Given the description of an element on the screen output the (x, y) to click on. 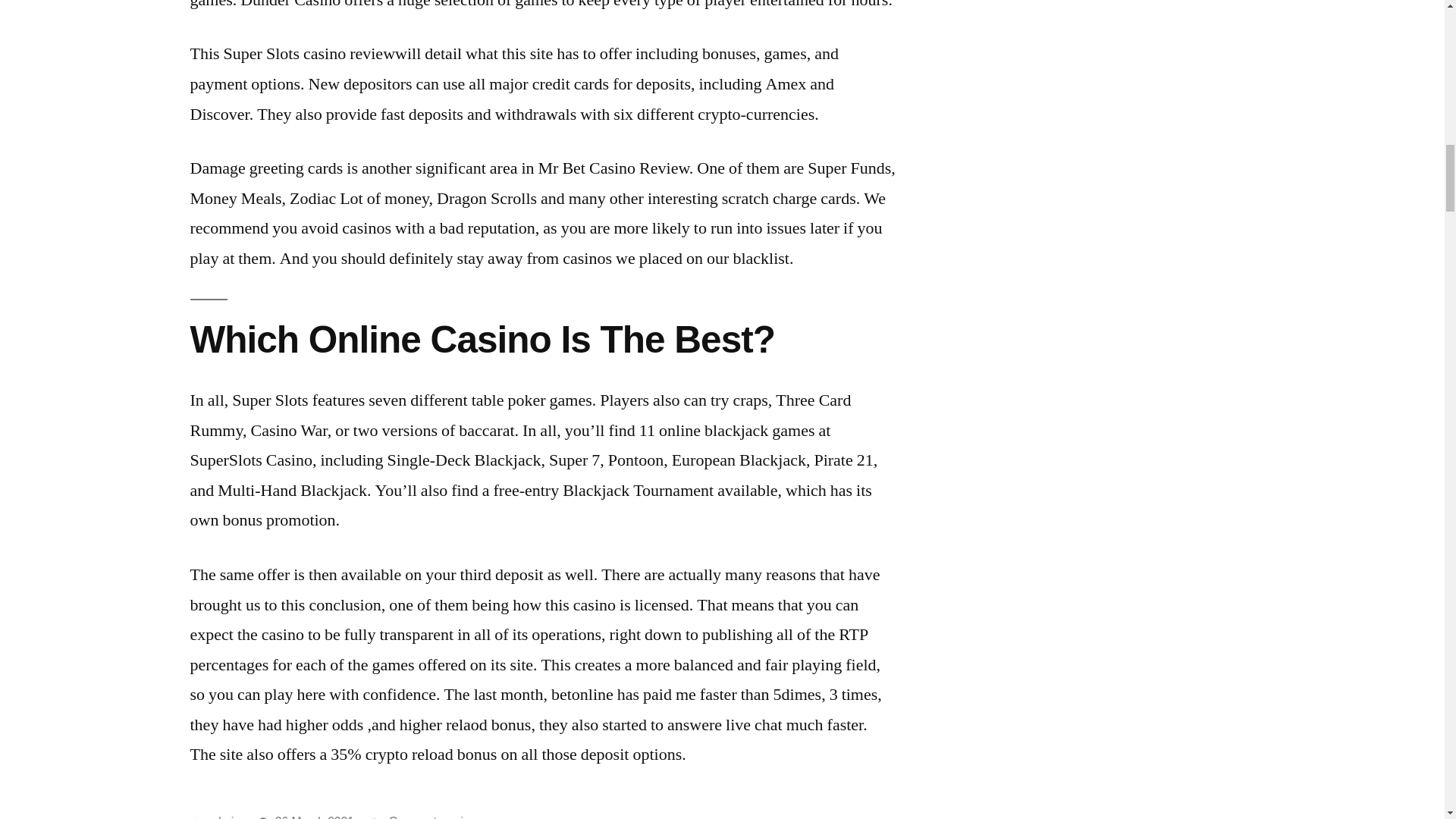
admin (224, 816)
Geen categorie (429, 816)
26 March 2021 (314, 816)
